Given the description of an element on the screen output the (x, y) to click on. 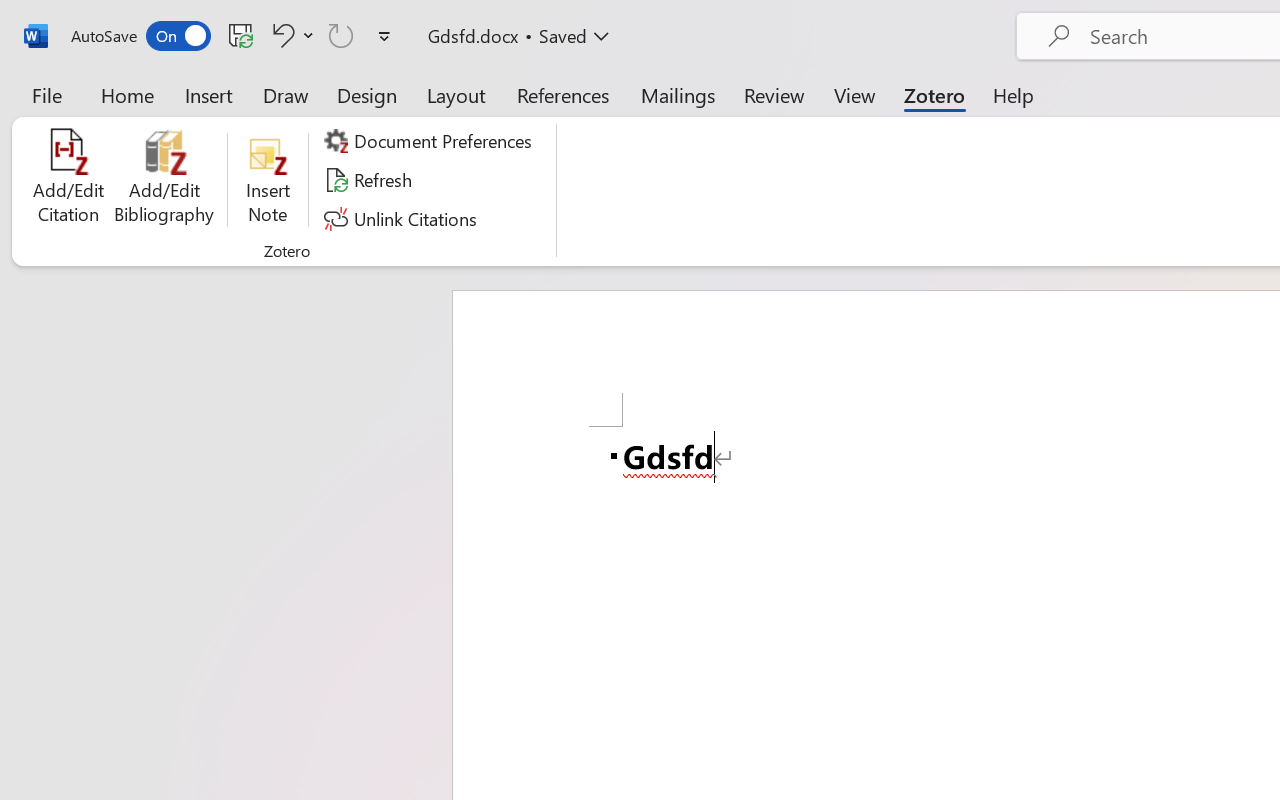
Document Preferences (431, 141)
Insert Note (267, 179)
Refresh (370, 179)
Add/Edit Citation (68, 179)
Undo <ApplyStyleToDoc>b__0 (290, 35)
